Given the description of an element on the screen output the (x, y) to click on. 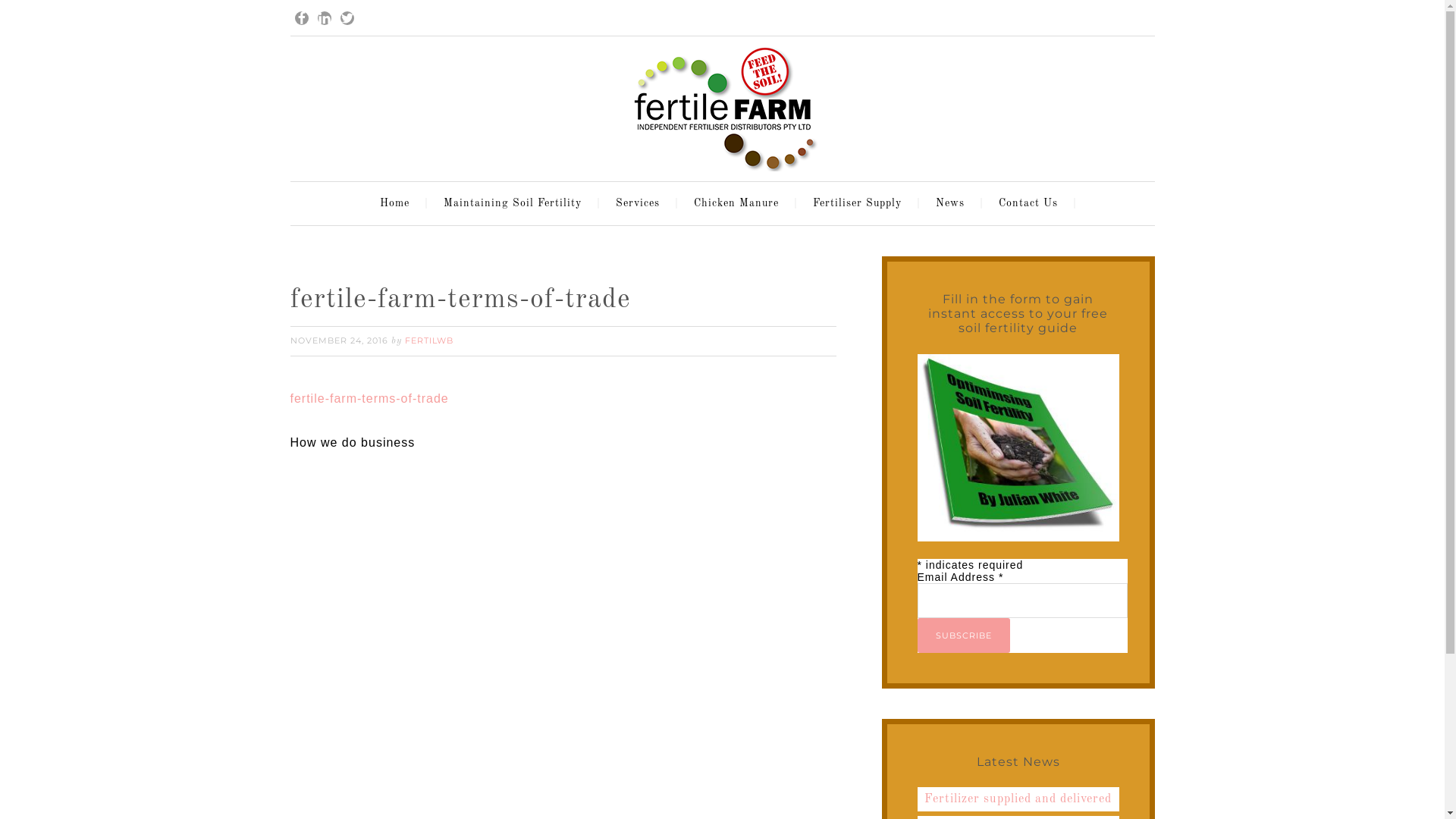
Maintaining Soil Fertility Element type: text (516, 203)
fertile-farm-terms-of-trade Element type: text (368, 398)
Fertile Farm Element type: text (721, 98)
News Element type: text (952, 203)
Home Element type: text (398, 203)
Subscribe Element type: text (963, 635)
Fertilizer supplied and delivered Element type: text (1017, 799)
Fertiliser Supply Element type: text (859, 203)
Contact Us Element type: text (1031, 203)
Chicken Manure Element type: text (739, 203)
Services Element type: text (640, 203)
FERTILWB Element type: text (428, 340)
